Given the description of an element on the screen output the (x, y) to click on. 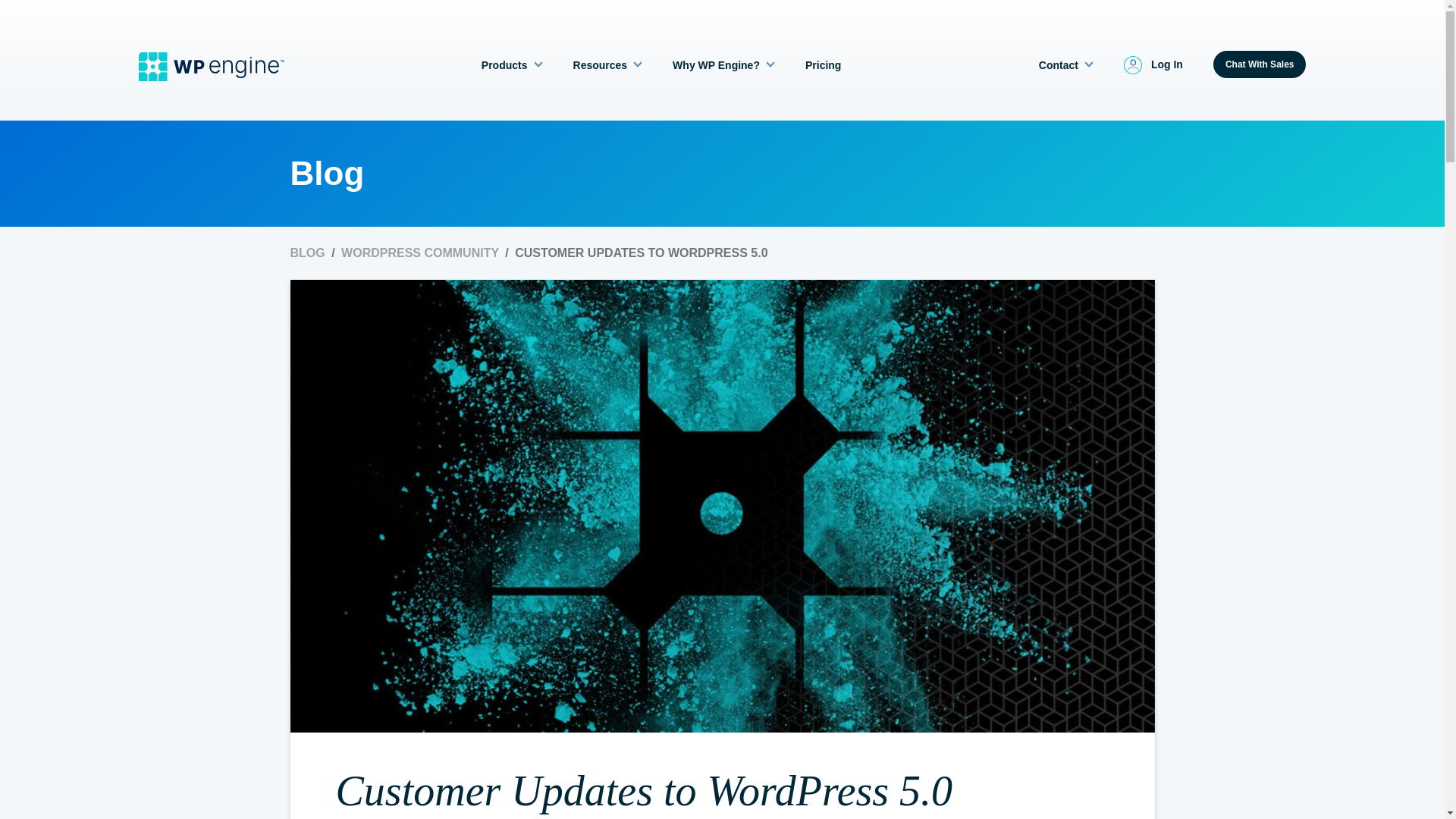
Resources (608, 64)
Why WP Engine? (723, 64)
Products (512, 64)
Blog (309, 252)
Log In (1153, 64)
Pricing (823, 64)
WordPress Community (421, 252)
Contact (1066, 64)
Chat With Sales (1259, 63)
